Given the description of an element on the screen output the (x, y) to click on. 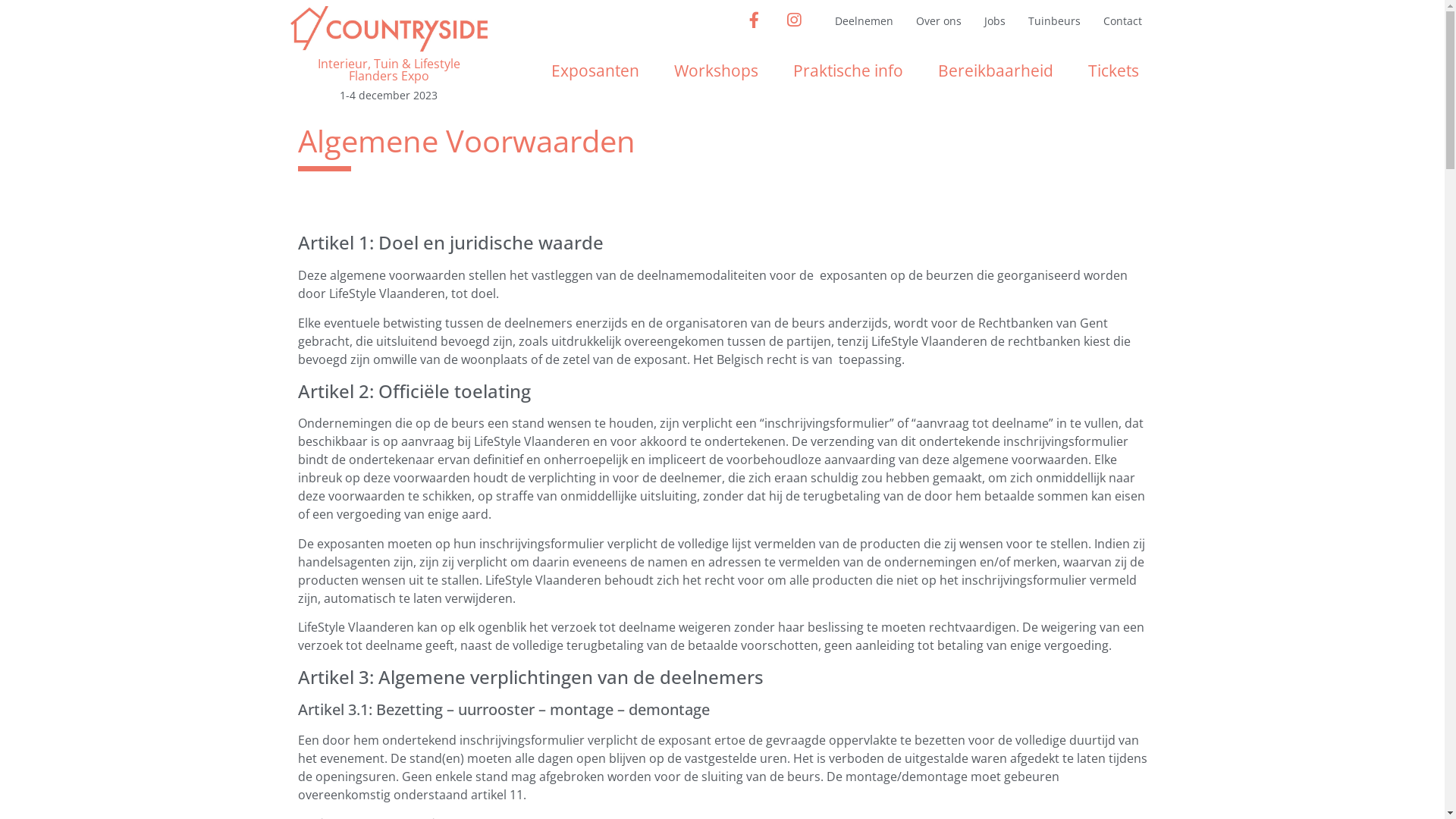
Deelnemen Element type: text (863, 20)
Jobs Element type: text (994, 20)
Workshops Element type: text (715, 70)
Tuinbeurs Element type: text (1054, 20)
Tickets Element type: text (1113, 70)
Contact Element type: text (1122, 20)
Praktische info Element type: text (848, 70)
Exposanten Element type: text (595, 70)
Over ons Element type: text (938, 20)
Bereikbaarheid Element type: text (995, 70)
